Given the description of an element on the screen output the (x, y) to click on. 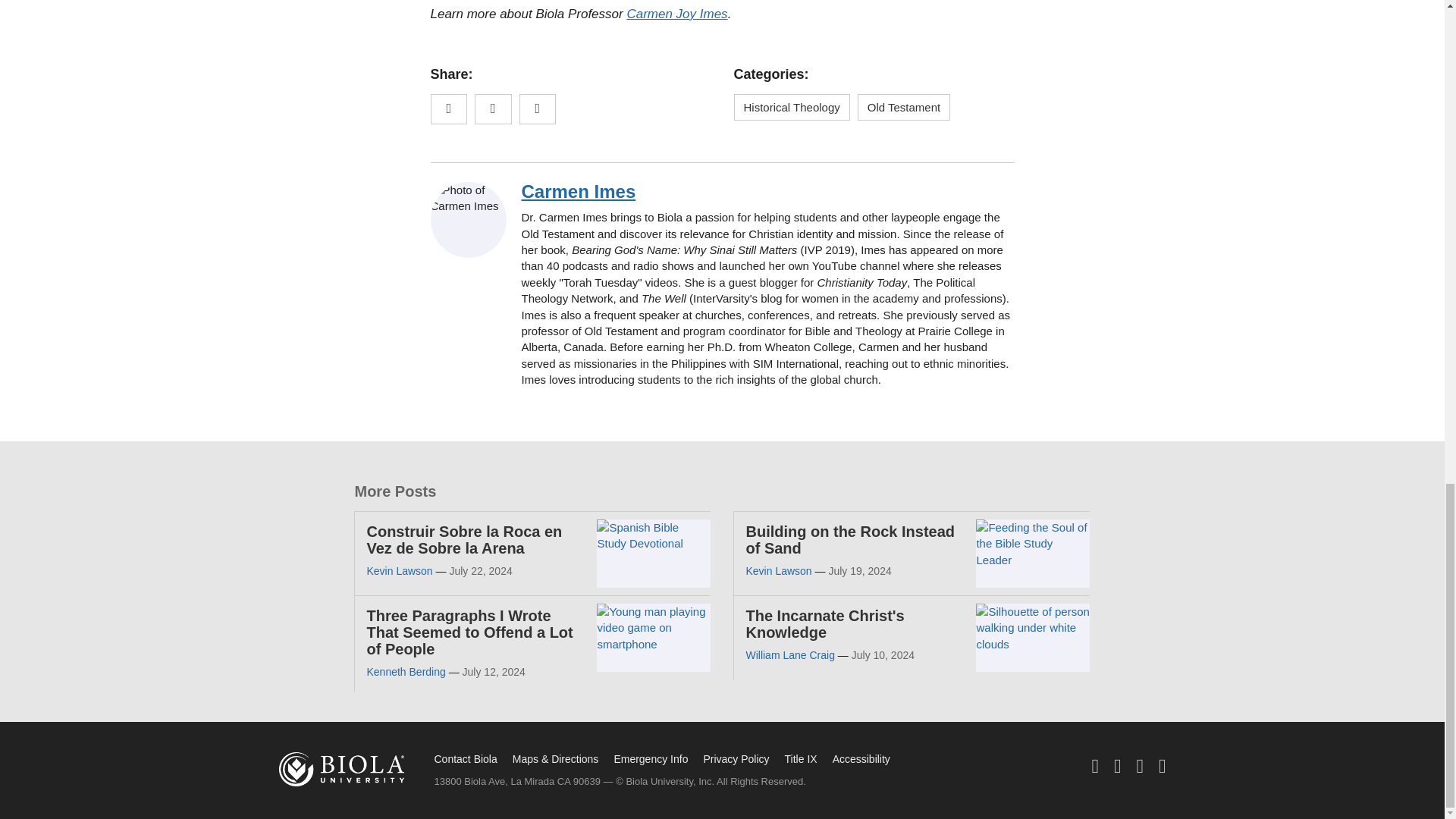
Carmen Imes (578, 190)
Historical Theology (791, 107)
Old Testament (903, 107)
Kevin Lawson (399, 571)
Carmen Joy Imes (676, 13)
Construir Sobre la Roca en Vez de Sobre la Arena (464, 539)
